Given the description of an element on the screen output the (x, y) to click on. 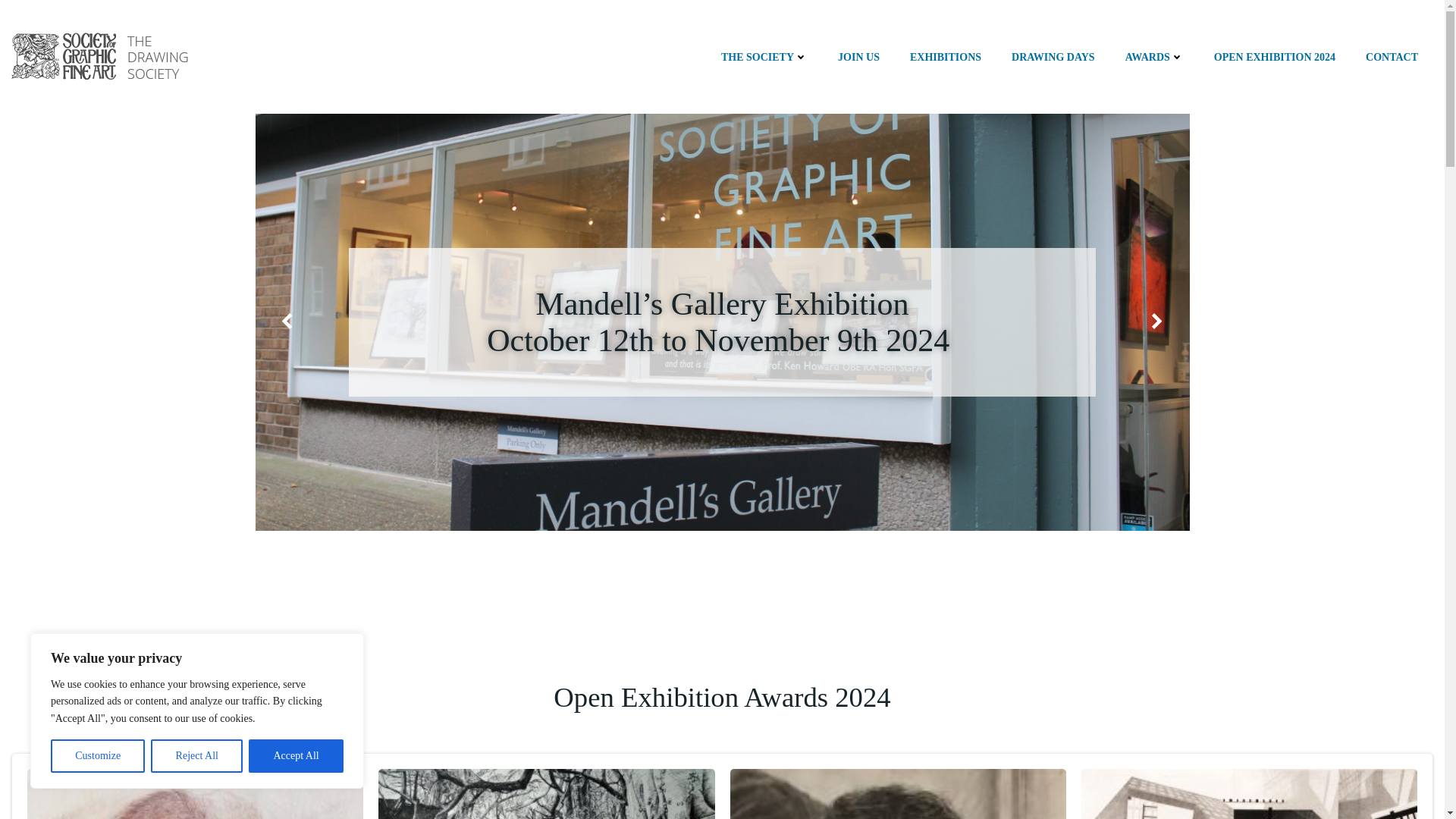
AWARDS (1154, 56)
Accept All (295, 756)
CONTACT (1391, 56)
EXHIBITIONS (945, 56)
JOIN US (858, 56)
Reject All (197, 756)
THE SOCIETY (764, 56)
Customize (97, 756)
DRAWING DAYS (1052, 56)
OPEN EXHIBITION 2024 (1274, 56)
